Given the description of an element on the screen output the (x, y) to click on. 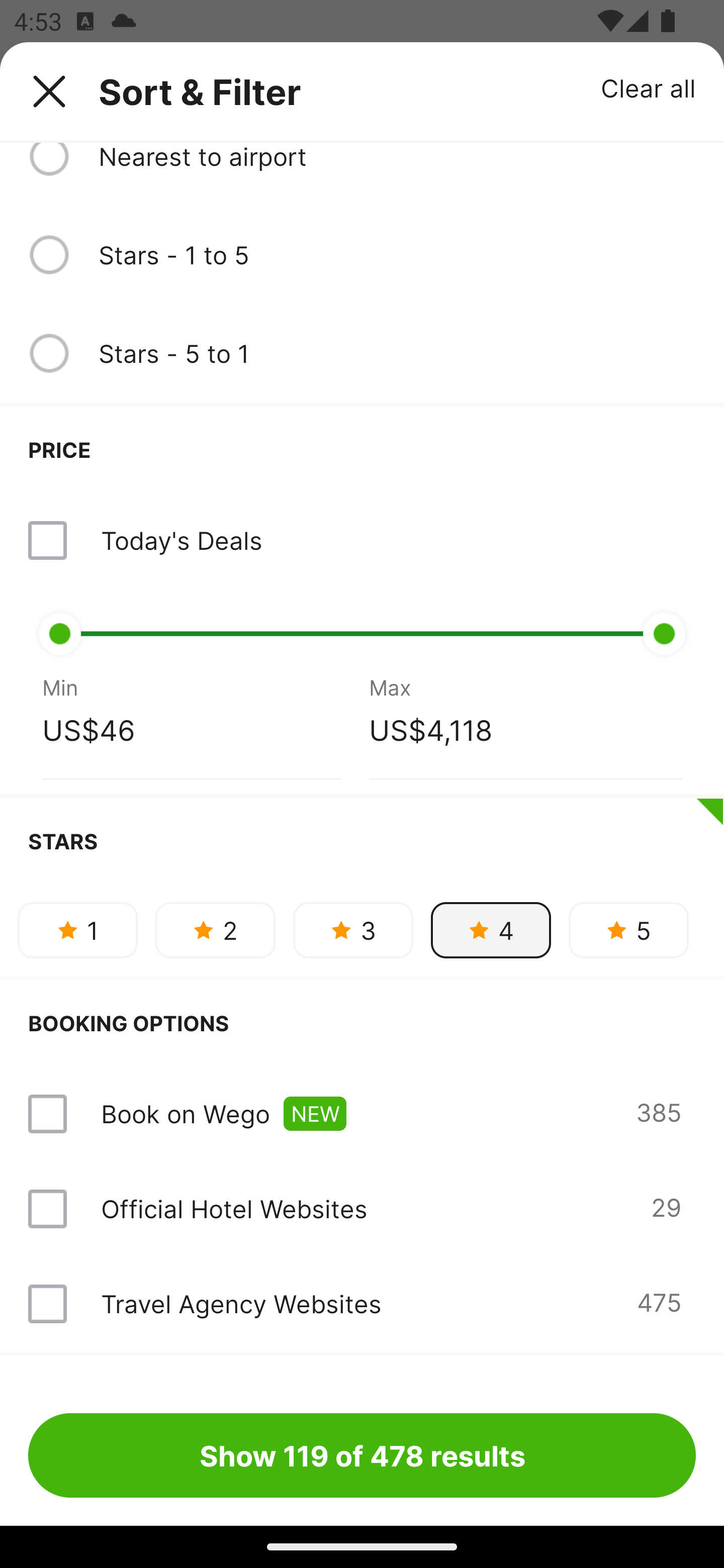
Clear all (648, 87)
Nearest to airport (396, 158)
Stars - 1 to 5 (396, 254)
Stars - 5 to 1 (396, 353)
Today's Deals (362, 540)
Today's Deals (181, 540)
1 (77, 929)
2 (214, 929)
3 (352, 929)
4 (491, 929)
5 (627, 929)
Book on Wego NEW 385 (362, 1113)
Book on Wego (184, 1113)
Official Hotel Websites 29 (362, 1208)
Official Hotel Websites (233, 1208)
Travel Agency Websites 475 (362, 1303)
Travel Agency Websites (240, 1303)
Show 119 of 478 results (361, 1454)
